Given the description of an element on the screen output the (x, y) to click on. 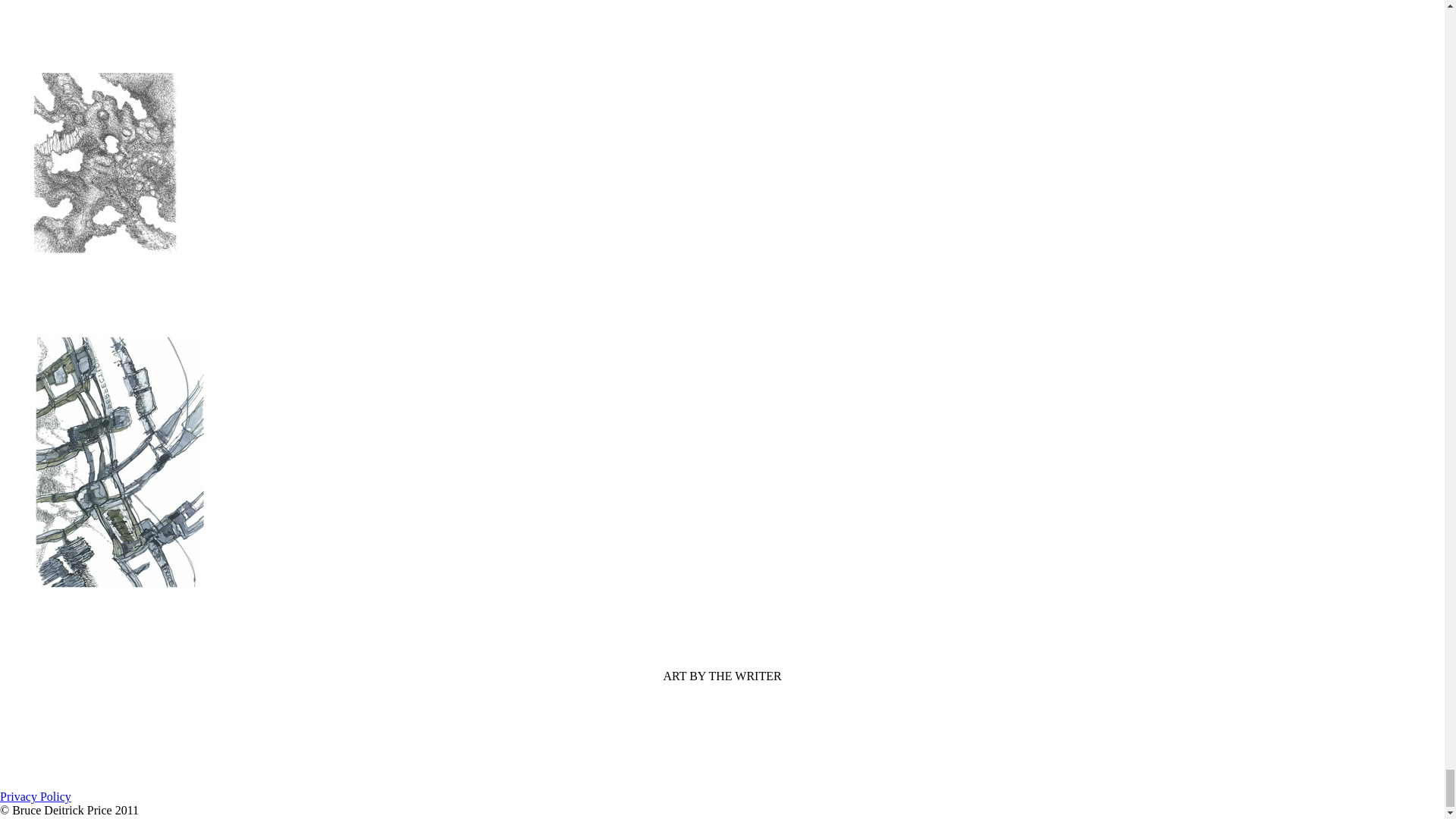
Privacy Policy (35, 796)
